Given the description of an element on the screen output the (x, y) to click on. 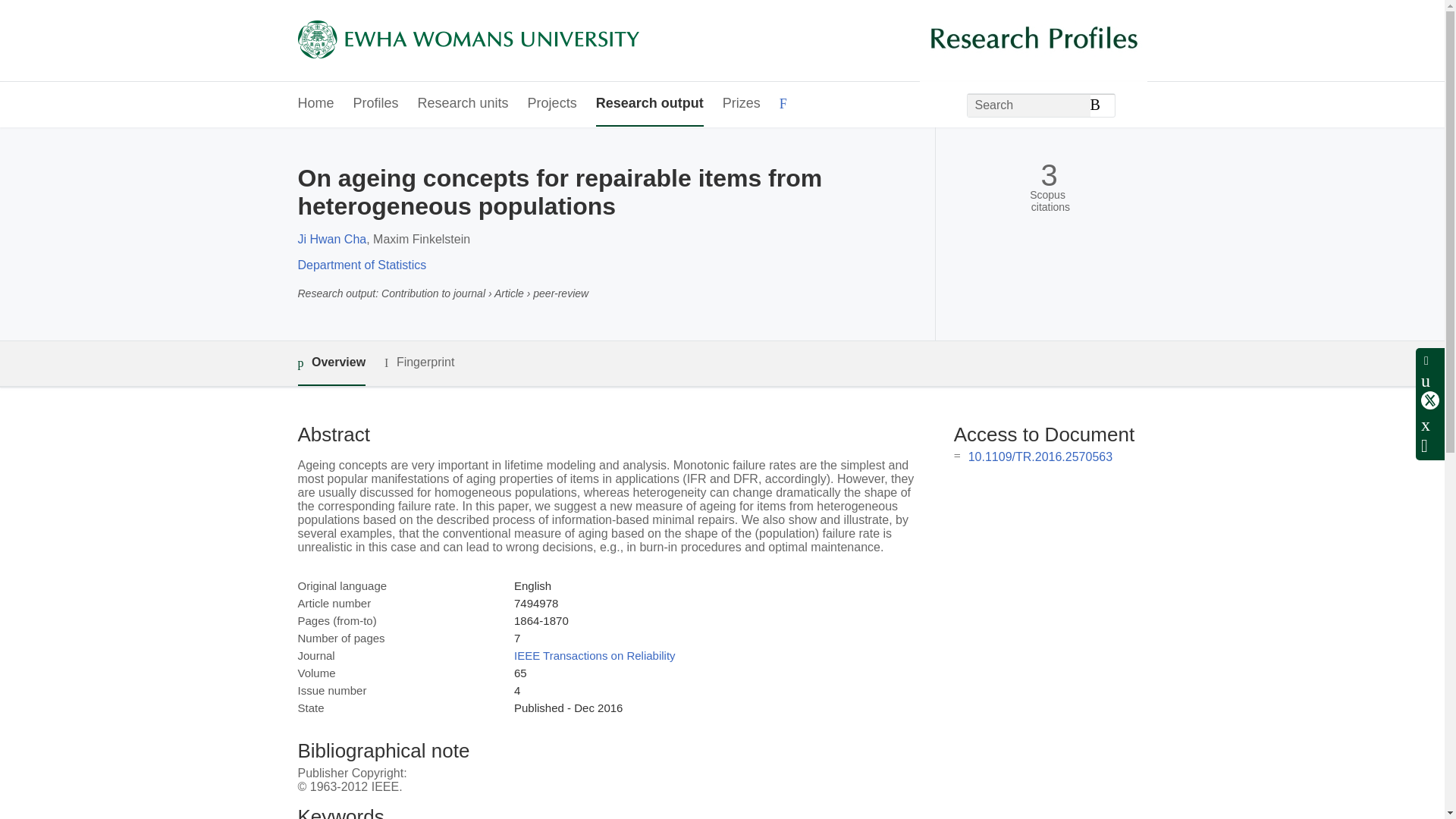
Ewha Womans University Home (468, 40)
Ji Hwan Cha (331, 238)
IEEE Transactions on Reliability (594, 655)
Profiles (375, 103)
Fingerprint (419, 362)
Overview (331, 363)
Research output (649, 103)
Department of Statistics (361, 264)
Research units (462, 103)
Projects (551, 103)
